Given the description of an element on the screen output the (x, y) to click on. 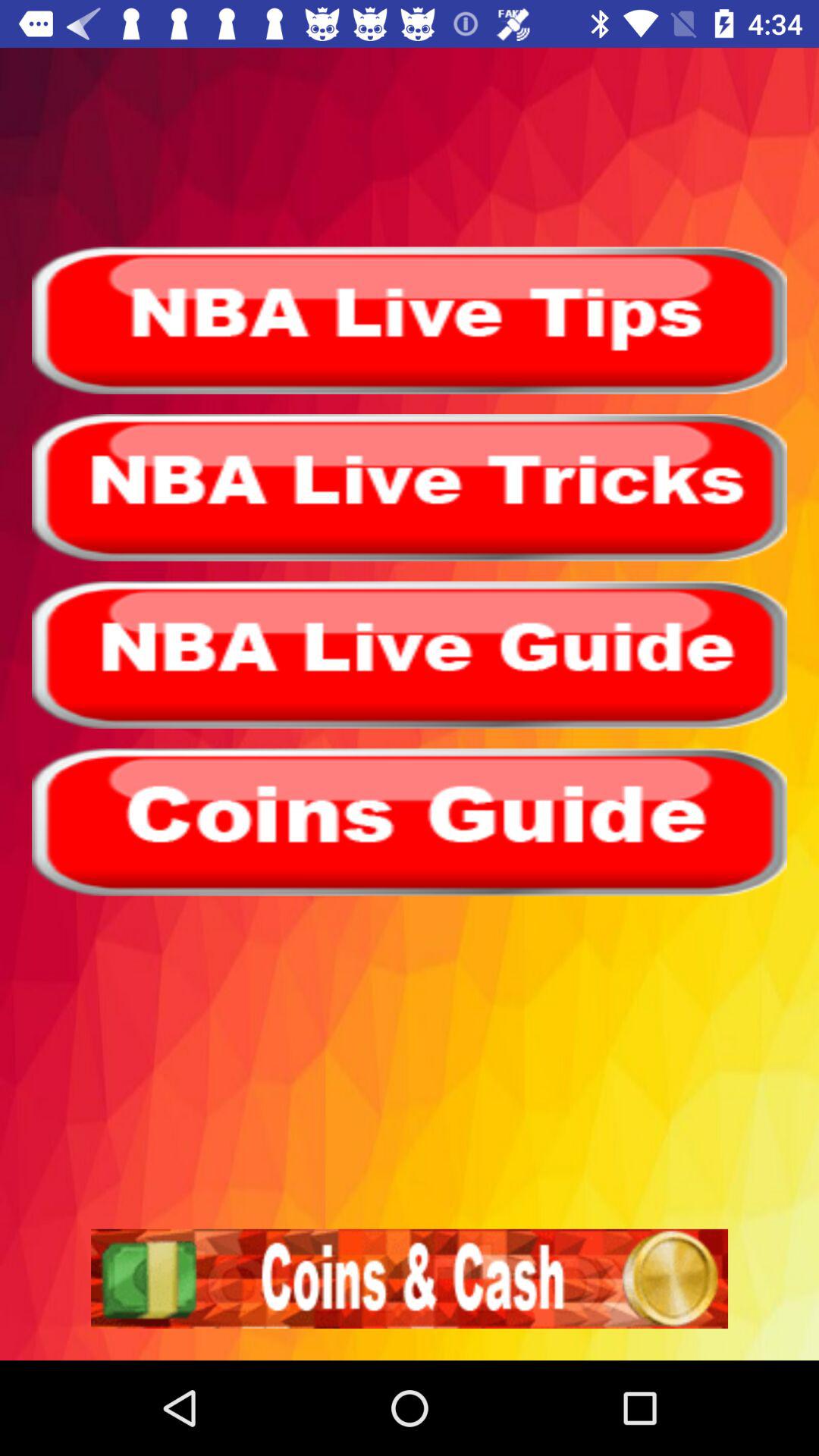
access live guide (409, 654)
